Given the description of an element on the screen output the (x, y) to click on. 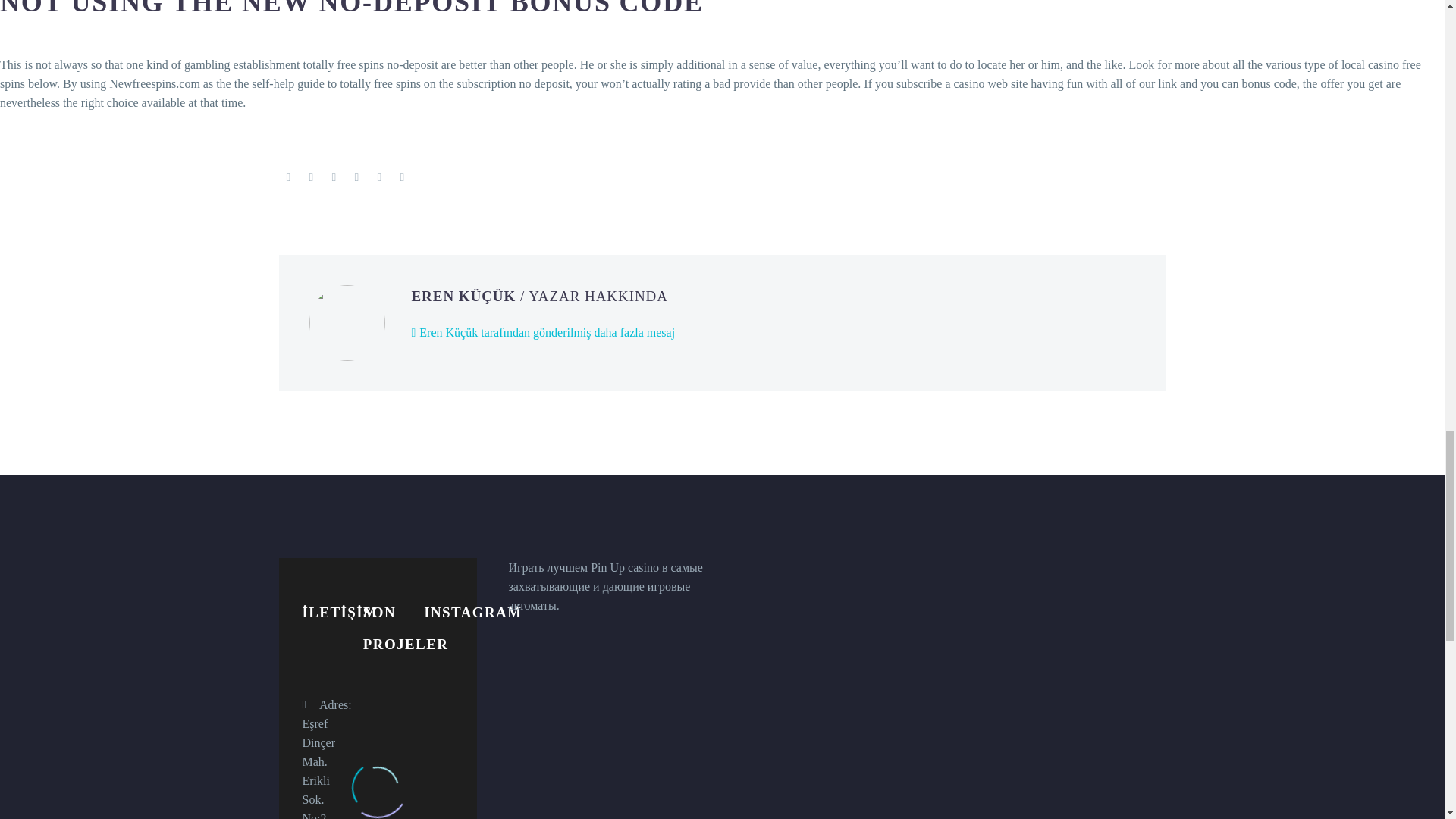
Twitter (310, 177)
Facebook (288, 177)
Reddit (401, 177)
Tumblr (356, 177)
Pinterest (333, 177)
LinkedIn (378, 177)
